Given the description of an element on the screen output the (x, y) to click on. 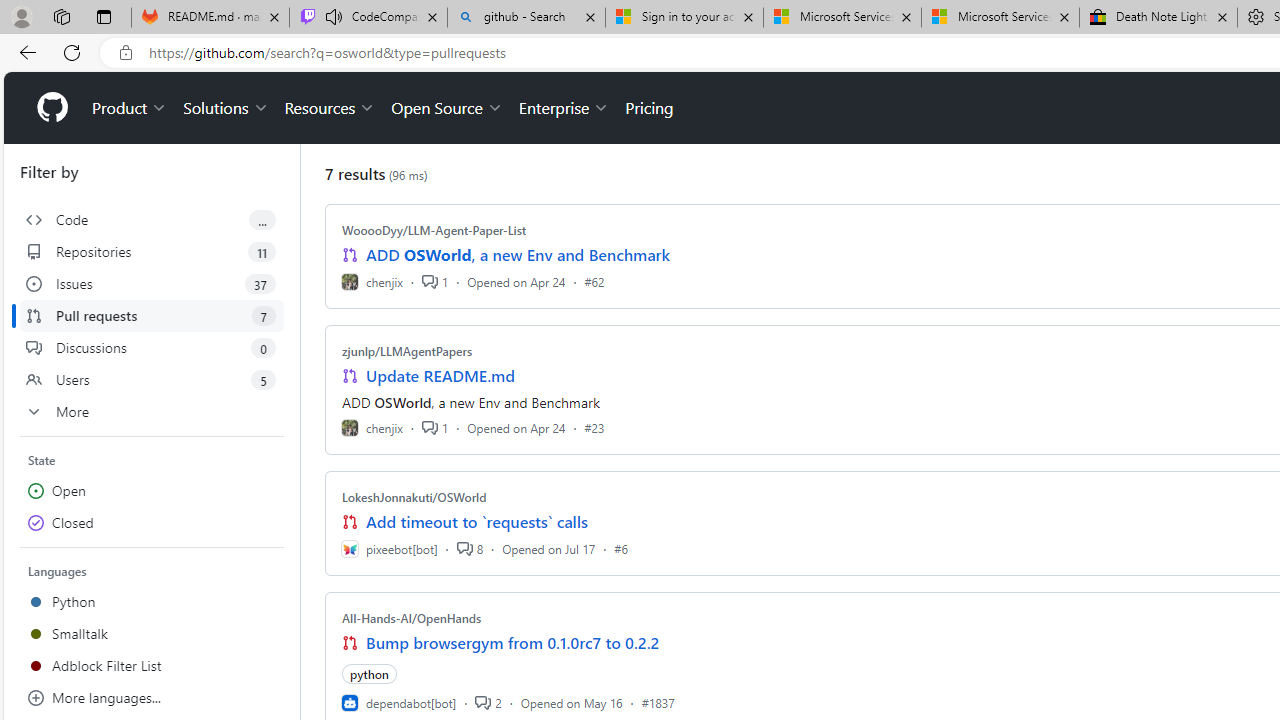
#6 (621, 548)
#6 (621, 548)
Enterprise (563, 107)
Pricing (649, 107)
Bump browsergym from 0.1.0rc7 to 0.2.2 (513, 642)
LokeshJonnakuti/OSWorld (413, 497)
Pricing (649, 107)
8 (469, 548)
#1837 (657, 702)
Add timeout to `requests` calls (476, 521)
